Given the description of an element on the screen output the (x, y) to click on. 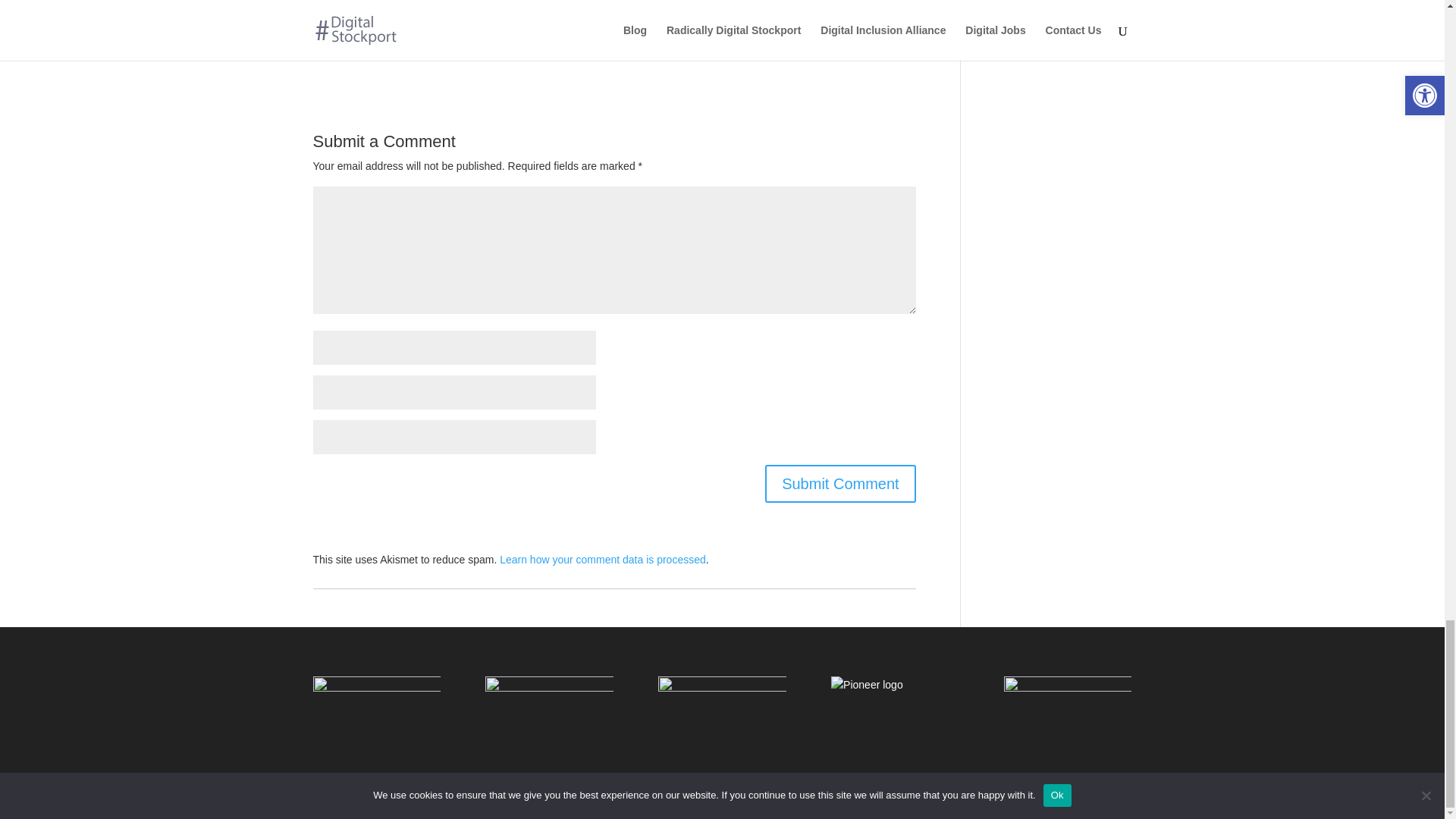
Submit Comment (840, 483)
Submit Comment (840, 483)
